Given the description of an element on the screen output the (x, y) to click on. 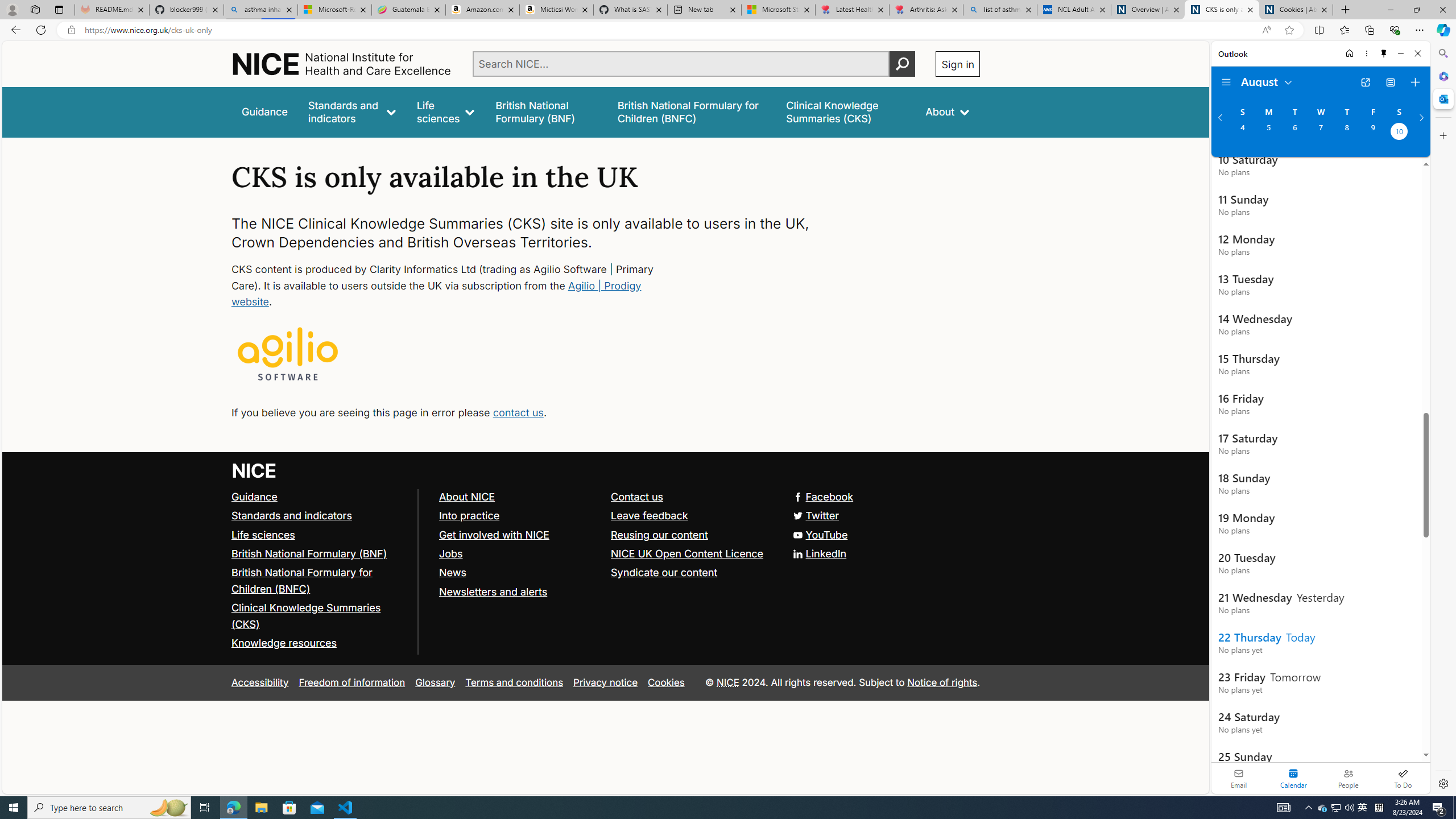
Get involved with NICE (493, 534)
Tab actions menu (58, 9)
Address and search bar (669, 29)
Open in new tab (1365, 82)
About NICE (518, 496)
About (947, 111)
Sunday, August 4, 2024.  (1242, 132)
Life sciences (446, 111)
Close Outlook pane (1442, 98)
